Given the description of an element on the screen output the (x, y) to click on. 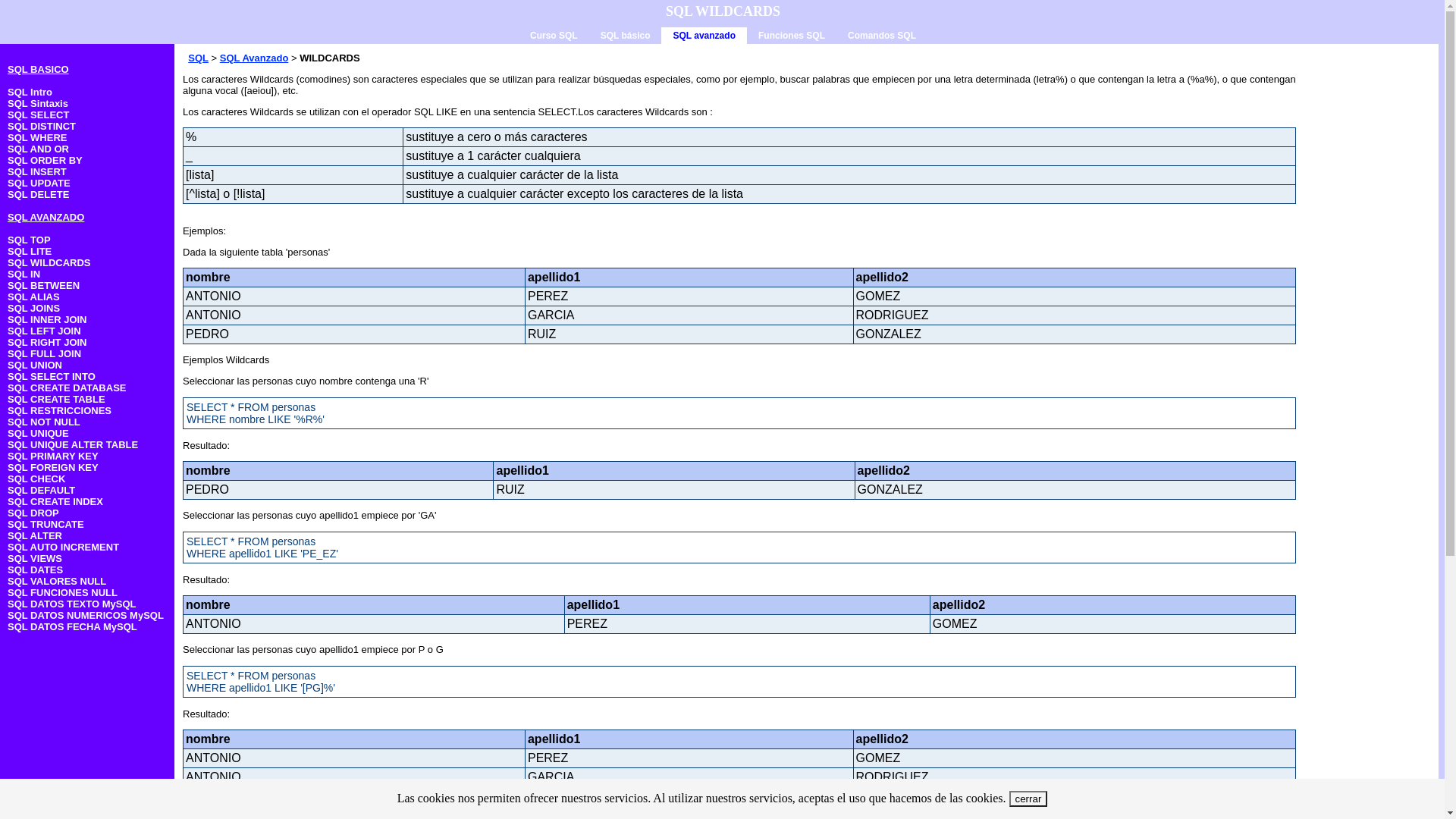
SQL DELETE Element type: text (38, 194)
Comandos SQL Element type: text (881, 35)
SQL INNER JOIN Element type: text (47, 319)
SQL UPDATE Element type: text (38, 182)
SQL DATOS TEXTO MySQL Element type: text (71, 603)
SQL SELECT Element type: text (38, 114)
SQL NOT NULL Element type: text (43, 421)
SQL DATES Element type: text (34, 569)
SQL WHERE Element type: text (37, 137)
SQL UNIQUE Element type: text (38, 433)
SQL CREATE TABLE Element type: text (56, 398)
SQL LEFT JOIN Element type: text (44, 330)
SQL UNIQUE ALTER TABLE Element type: text (72, 444)
SQL VIEWS Element type: text (34, 558)
SQL LITE Element type: text (29, 251)
SQL AVANZADO Element type: text (45, 216)
SQL CREATE INDEX Element type: text (55, 501)
SQL CHECK Element type: text (36, 478)
SQL PRIMARY KEY Element type: text (52, 455)
SQL RESTRICCIONES Element type: text (59, 410)
SQL FOREIGN KEY Element type: text (52, 467)
SQL DISTINCT Element type: text (41, 125)
Curso SQL Element type: text (553, 35)
SQL CREATE DATABASE Element type: text (66, 387)
SQL ALTER Element type: text (34, 535)
SQL DATOS NUMERICOS MySQL Element type: text (85, 615)
SQL RIGHT JOIN Element type: text (47, 342)
SQL Avanzado Element type: text (253, 57)
SQL FULL JOIN Element type: text (44, 353)
SQL UNION Element type: text (34, 364)
SQL ORDER BY Element type: text (44, 160)
SQL DROP Element type: text (33, 512)
SQL DEFAULT Element type: text (41, 489)
SQL Sintaxis Element type: text (37, 103)
SQL AND OR Element type: text (38, 148)
SQL AUTO INCREMENT Element type: text (63, 546)
SQL DATOS FECHA MySQL Element type: text (72, 626)
SQL avanzado Element type: text (703, 35)
Advertisement Element type: hover (1367, 290)
SQL IN Element type: text (23, 273)
SQL BASICO Element type: text (38, 69)
SQL FUNCIONES NULL Element type: text (62, 592)
SQL TOP Element type: text (28, 239)
SQL INSERT Element type: text (36, 171)
SQL SELECT INTO Element type: text (51, 376)
SQL Intro Element type: text (29, 91)
Funciones SQL Element type: text (791, 35)
SQL VALORES NULL Element type: text (56, 580)
SQL JOINS Element type: text (33, 307)
SQL ALIAS Element type: text (33, 296)
cerrar Element type: text (1028, 798)
SQL Element type: text (198, 57)
SQL BETWEEN Element type: text (43, 285)
SQL TRUNCATE Element type: text (45, 524)
SQL WILDCARDS Element type: text (49, 262)
